Given the description of an element on the screen output the (x, y) to click on. 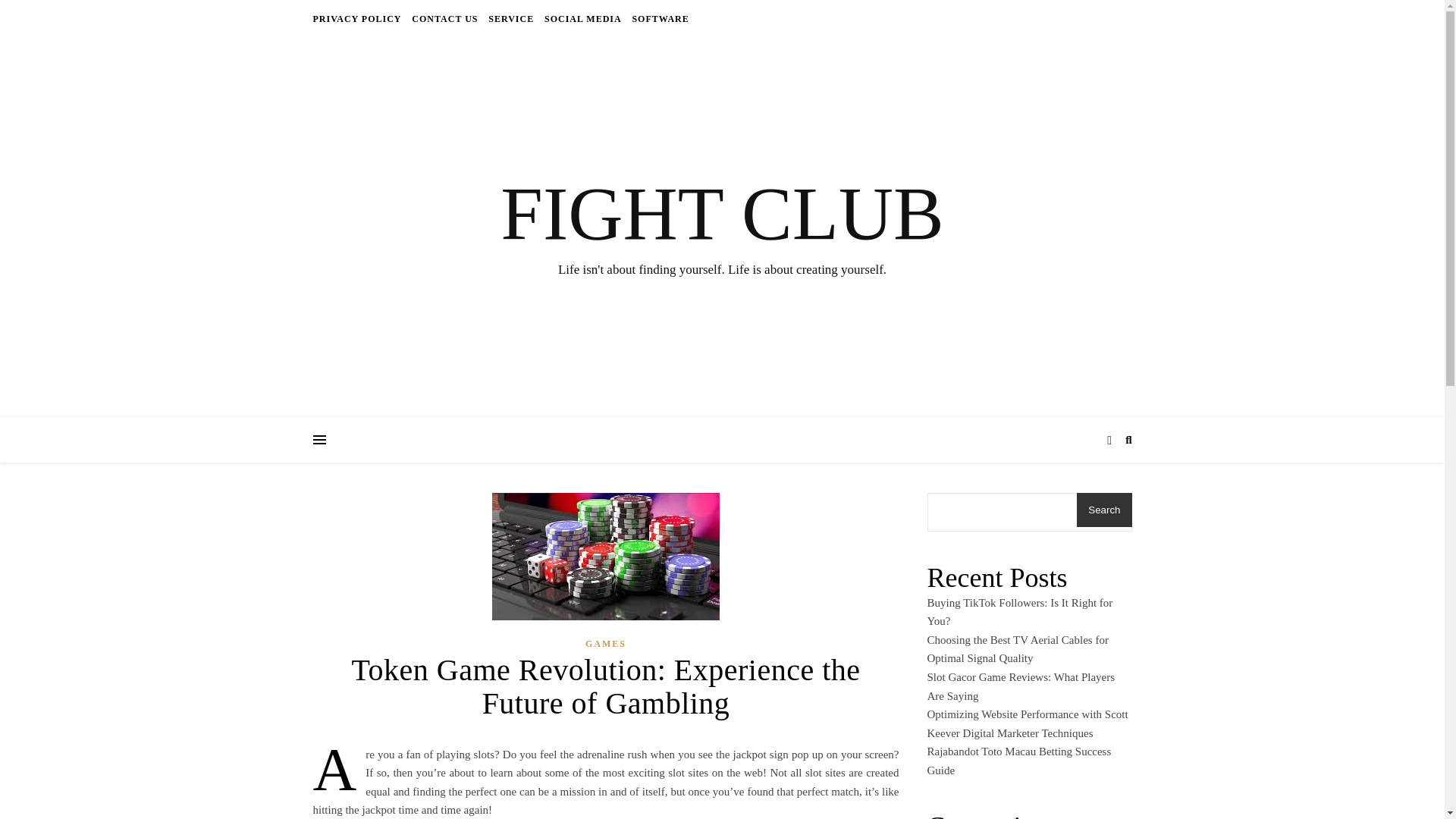
SOFTWARE (657, 18)
CONTACT US (444, 18)
SOCIAL MEDIA (583, 18)
Search (1104, 510)
SERVICE (510, 18)
GAMES (605, 643)
PRIVACY POLICY (358, 18)
Buying TikTok Followers: Is It Right for You? (1019, 612)
